Given the description of an element on the screen output the (x, y) to click on. 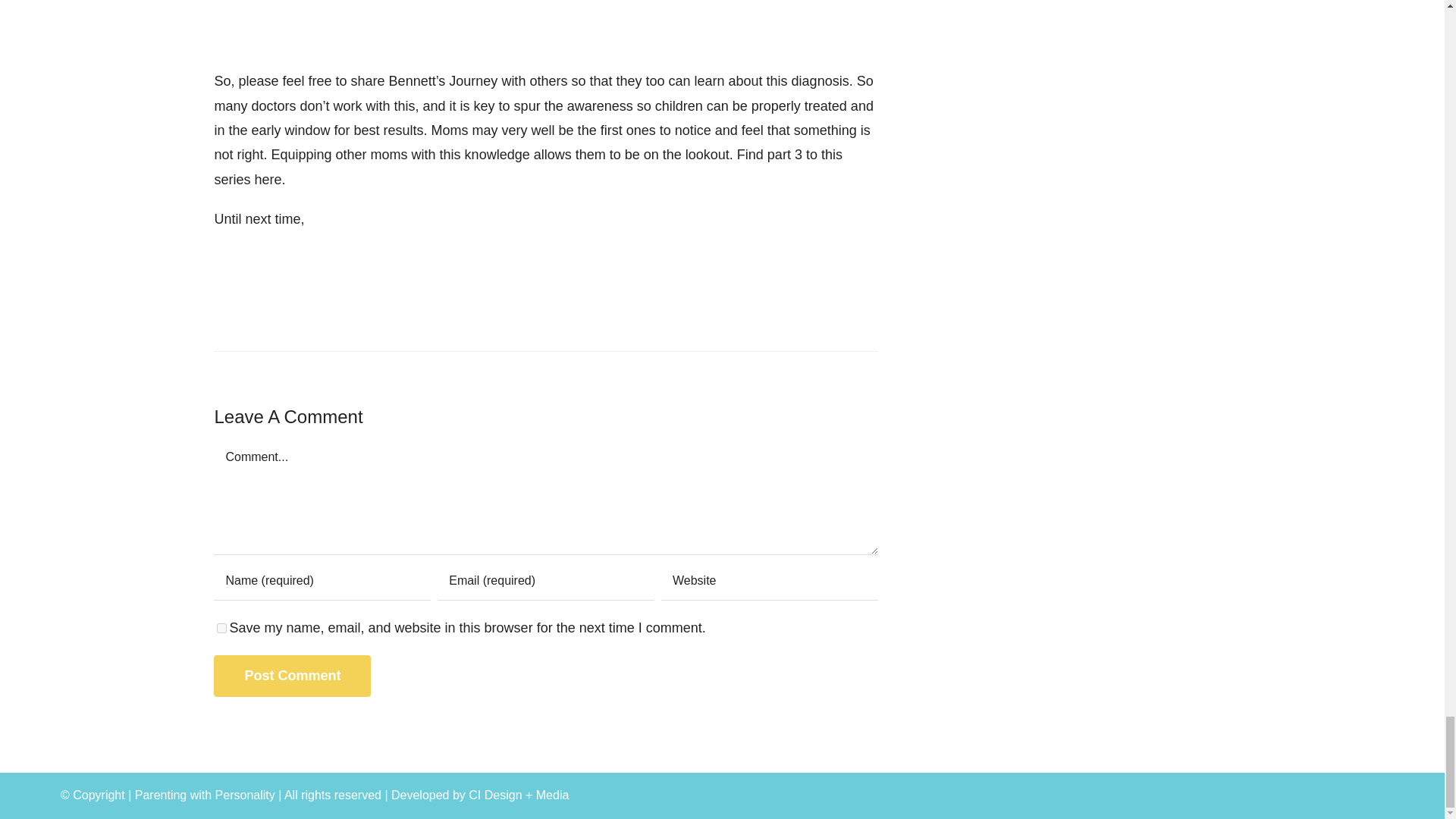
part 3 to this series here (527, 166)
yes (221, 628)
Post Comment (292, 675)
